Given the description of an element on the screen output the (x, y) to click on. 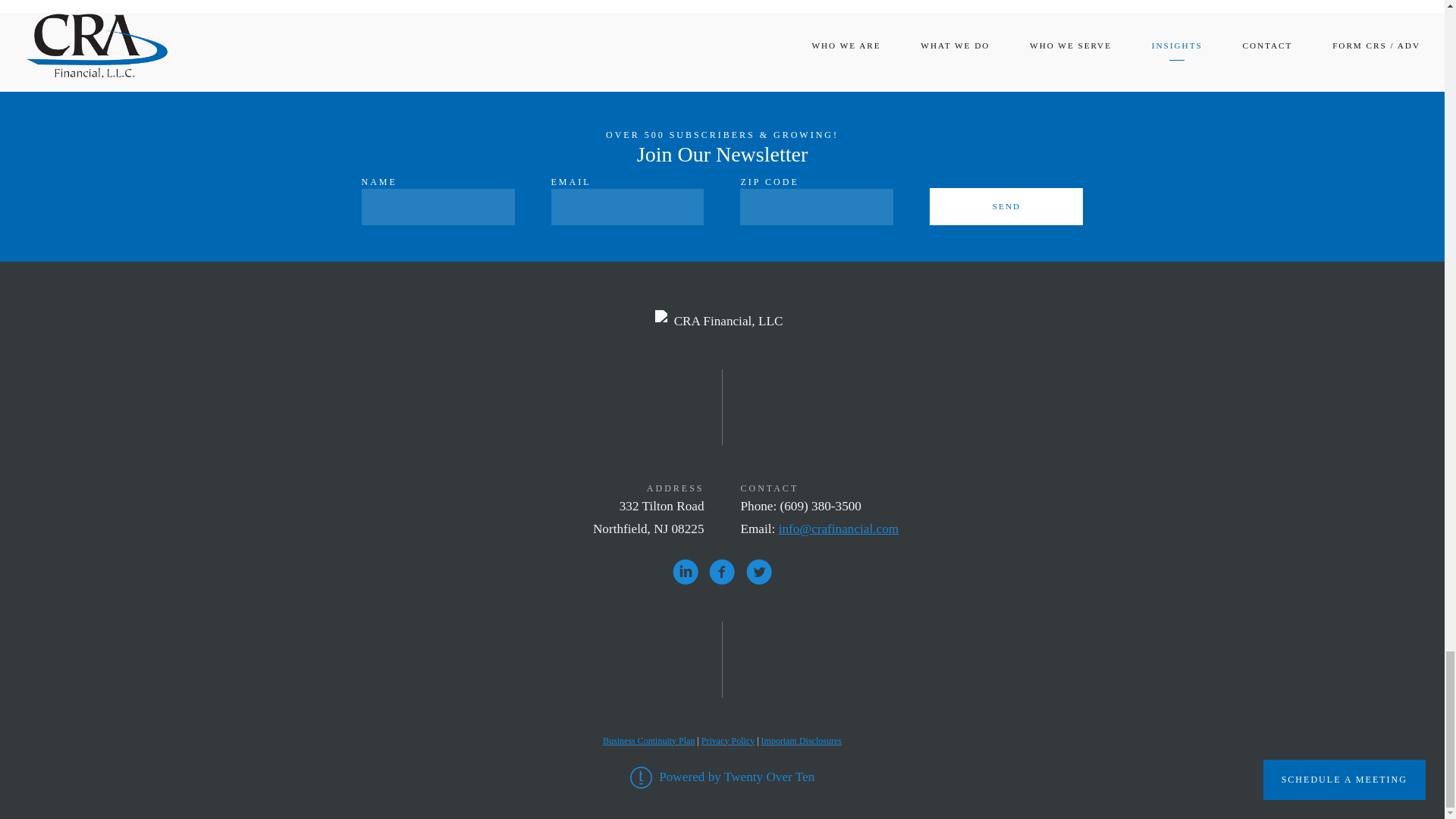
SEND (1006, 206)
Business Continuity Plan (648, 740)
Privacy Policy (727, 740)
